Given the description of an element on the screen output the (x, y) to click on. 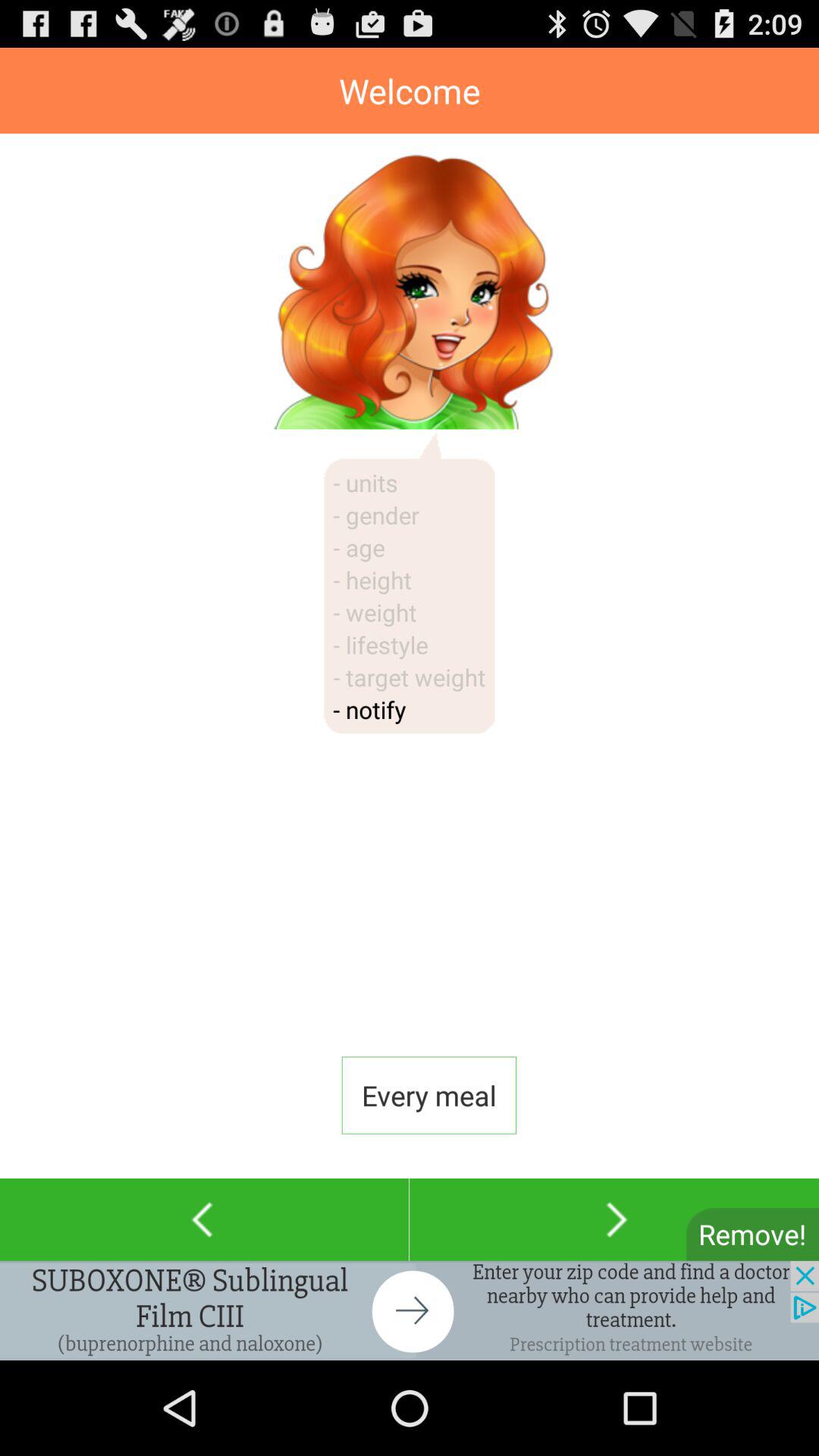
go back (204, 1219)
